Given the description of an element on the screen output the (x, y) to click on. 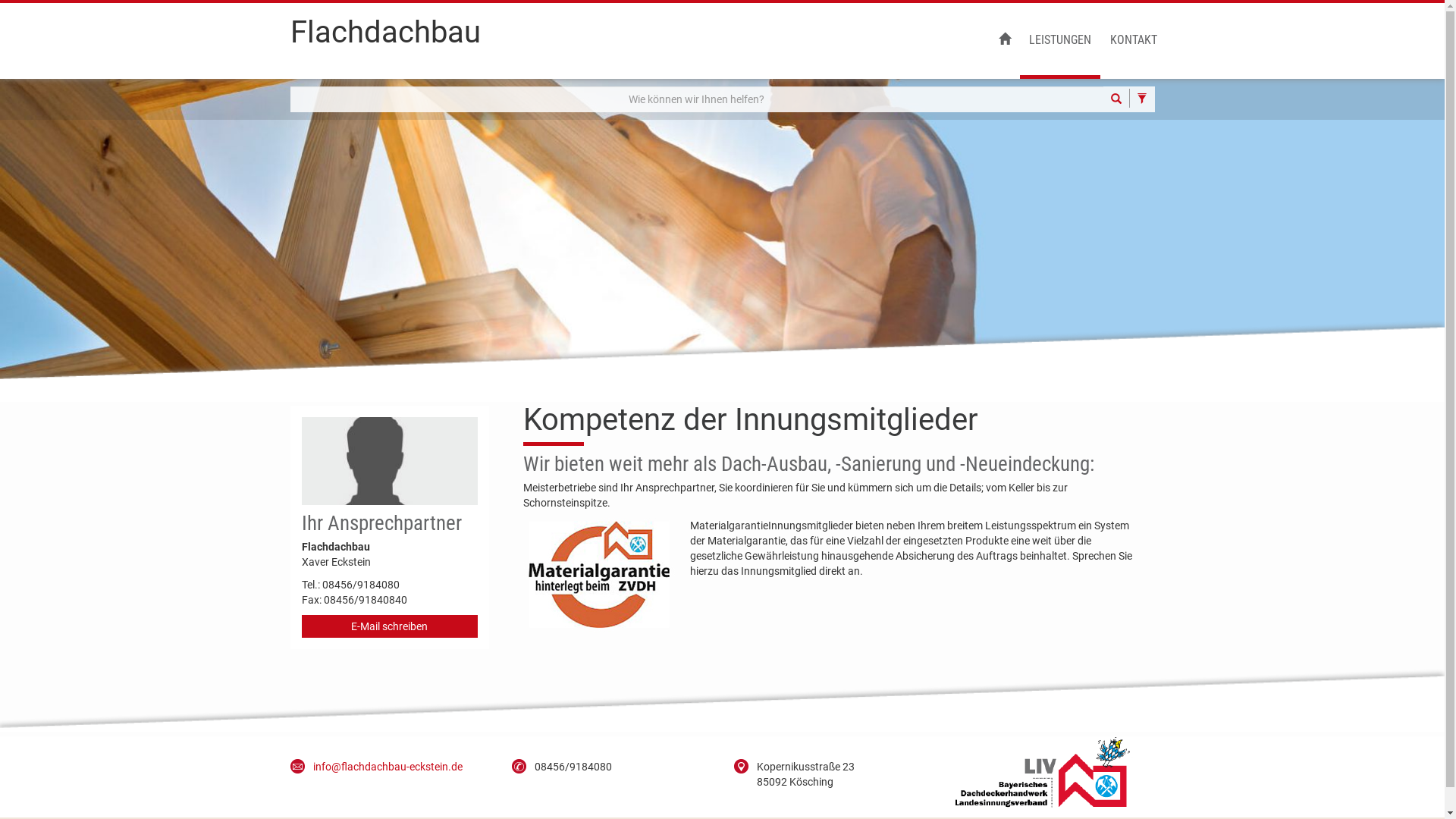
E-Mail schreiben Element type: text (389, 626)
info@flachdachbau-eckstein.de Element type: text (386, 766)
Flachdachbau Element type: text (384, 38)
KONTAKT Element type: text (1133, 40)
LEISTUNGEN Element type: text (1059, 40)
